Given the description of an element on the screen output the (x, y) to click on. 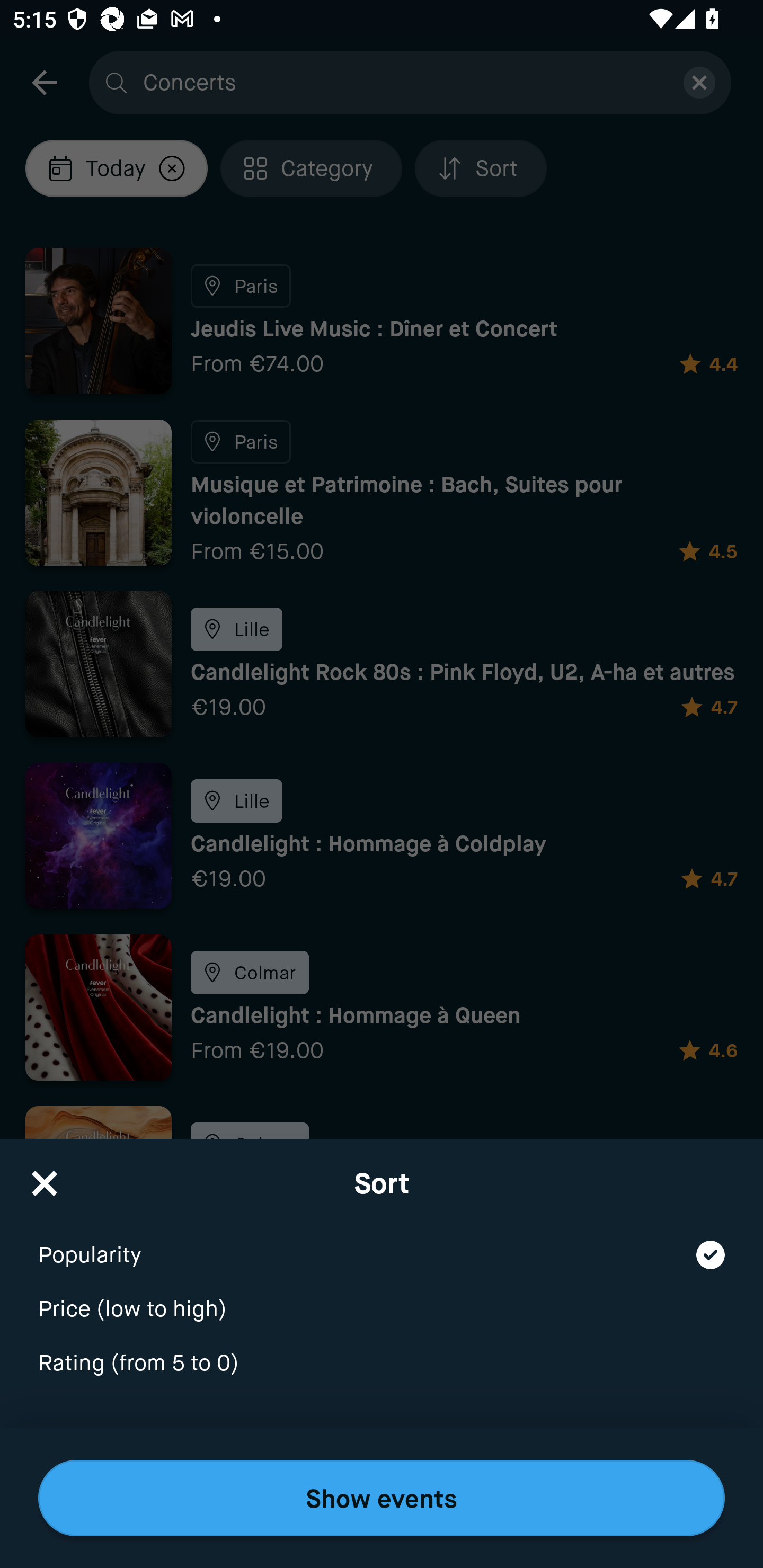
CloseButton (44, 1177)
Popularity Selected Icon (381, 1243)
Price (low to high) (381, 1297)
Rating (from 5 to 0) (381, 1362)
Show events (381, 1497)
